Given the description of an element on the screen output the (x, y) to click on. 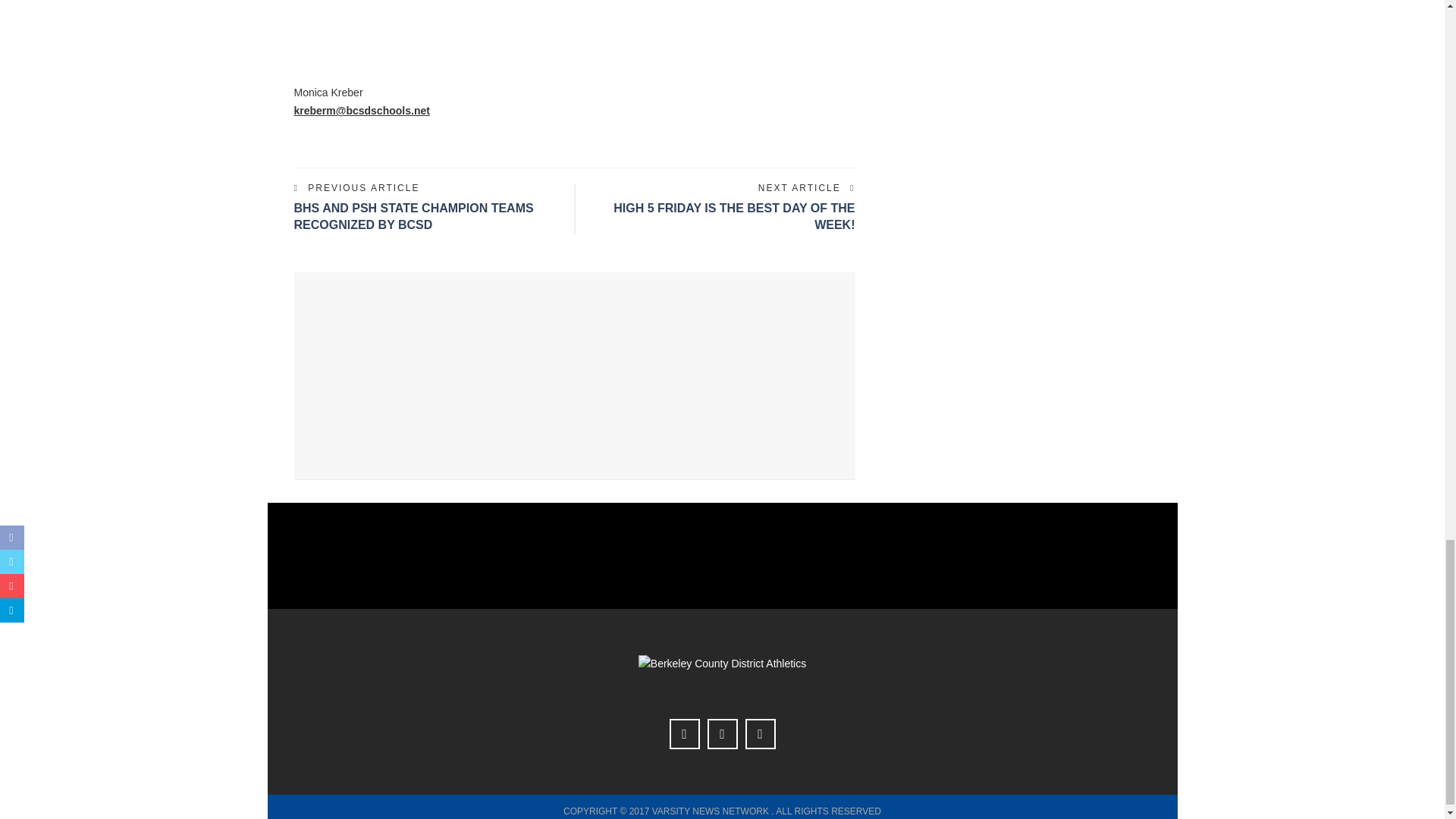
High 5 Friday is the best day of the week! (733, 215)
BHS and PSH state champion teams recognized by BCSD (414, 215)
